Given the description of an element on the screen output the (x, y) to click on. 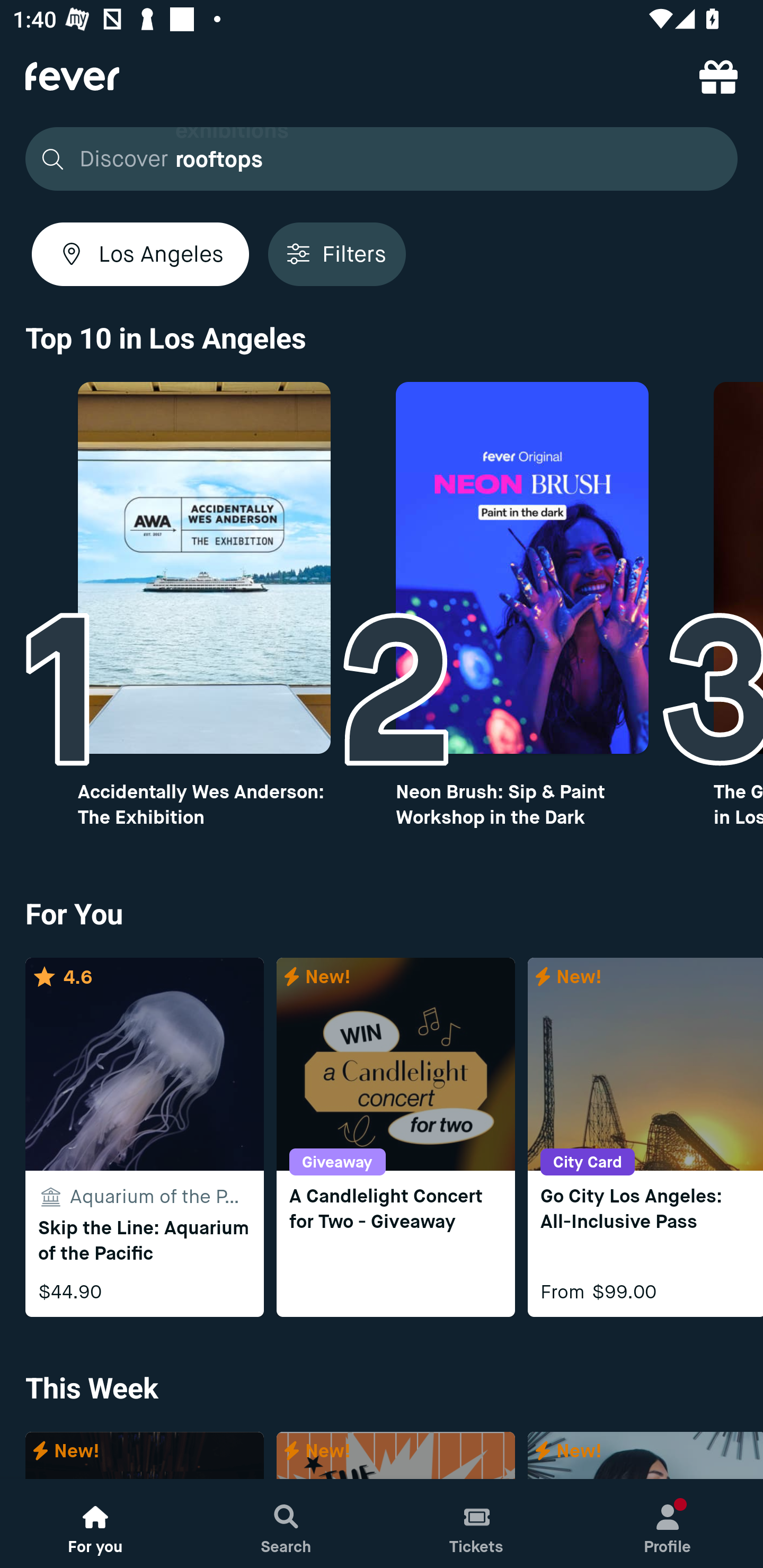
referral (718, 75)
Discover exhibitions rooftops (381, 158)
Discover exhibitions rooftops (376, 158)
Los Angeles (140, 253)
Filters (336, 253)
Top10 image (203, 568)
Top10 image (521, 568)
Search (285, 1523)
Tickets (476, 1523)
Profile, New notification Profile (667, 1523)
